Given the description of an element on the screen output the (x, y) to click on. 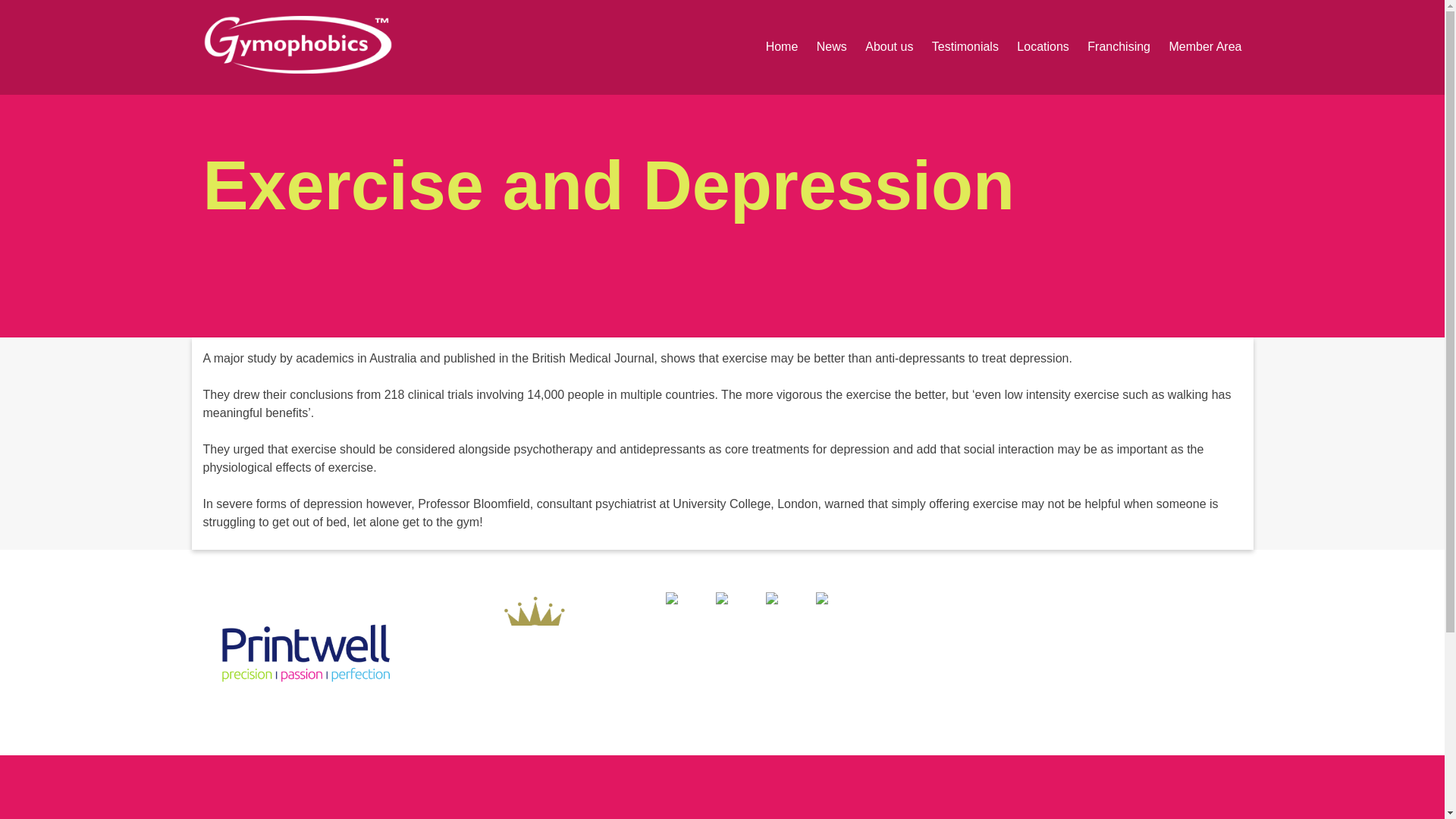
About us (881, 46)
Franchising (1110, 46)
Testimonials (957, 46)
Home (774, 46)
News (824, 46)
Member Area (1197, 46)
Locations (1034, 46)
